Given the description of an element on the screen output the (x, y) to click on. 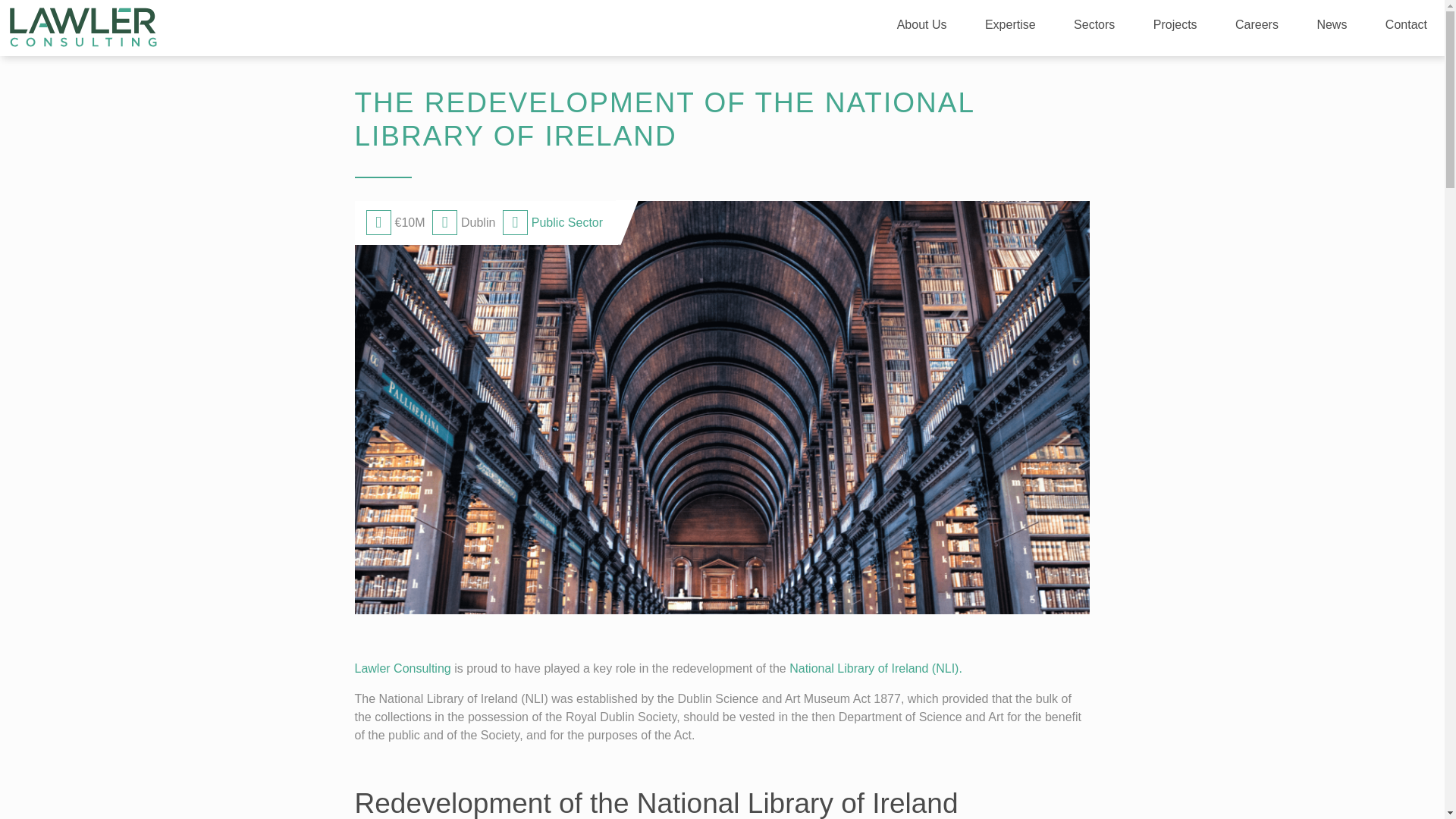
Projects (1174, 27)
Lawler Consulting logo (83, 25)
Expertise (1010, 27)
Sectors (1094, 27)
About Us (921, 27)
Public Sector (566, 222)
Careers (1256, 27)
Read More on Public Sector - Lawler Consulting (566, 222)
Lawler Consulting (403, 667)
News (1331, 27)
